Given the description of an element on the screen output the (x, y) to click on. 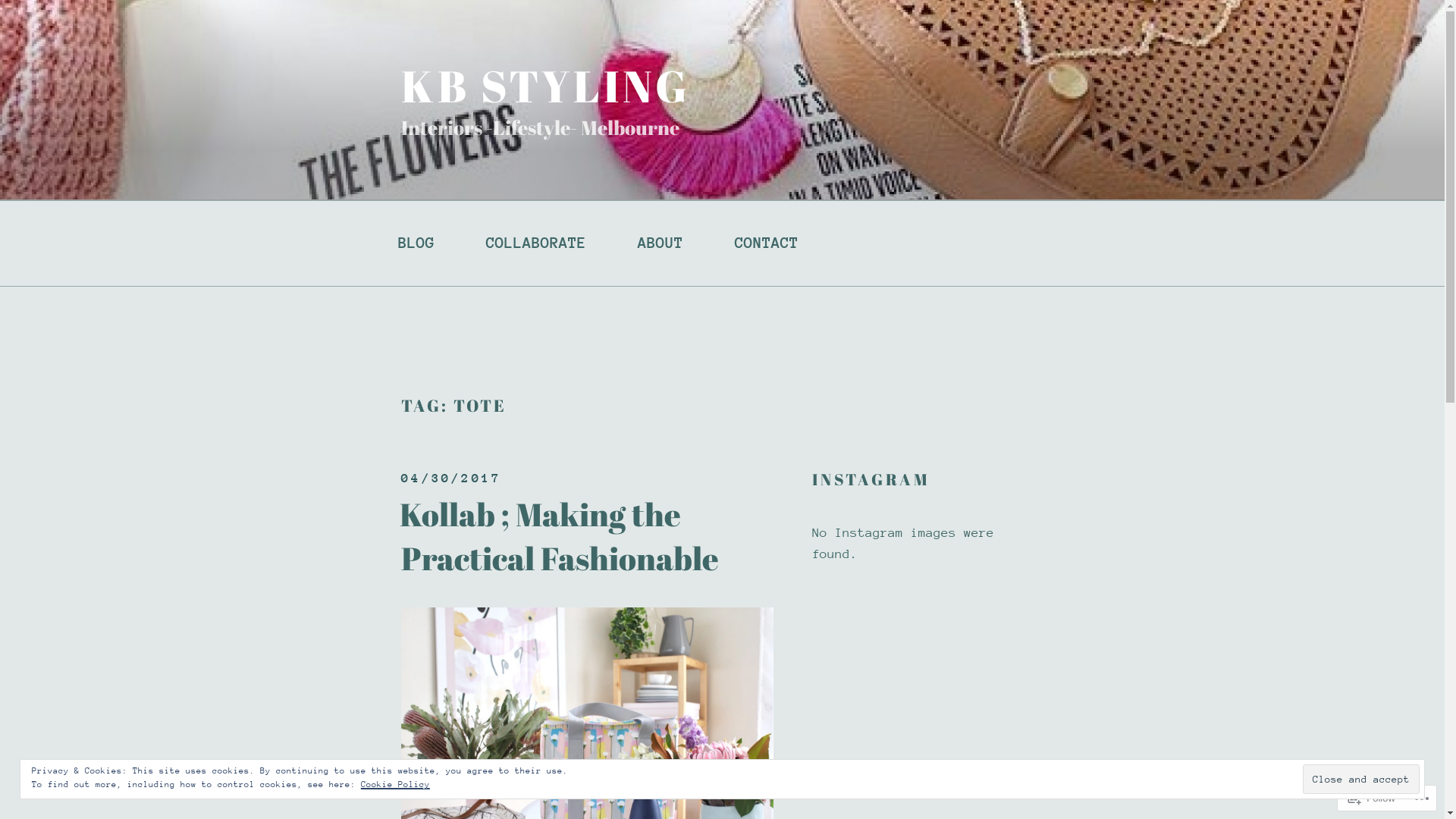
BLOG Element type: text (415, 243)
Cookie Policy Element type: text (394, 784)
Kollab ; Making the Practical Fashionable Element type: text (558, 535)
Close and accept Element type: text (1360, 778)
Follow Element type: text (1371, 797)
COLLABORATE Element type: text (535, 243)
04/30/2017 Element type: text (451, 477)
CONTACT Element type: text (766, 243)
KB STYLING Element type: text (545, 85)
ABOUT Element type: text (660, 243)
